Given the description of an element on the screen output the (x, y) to click on. 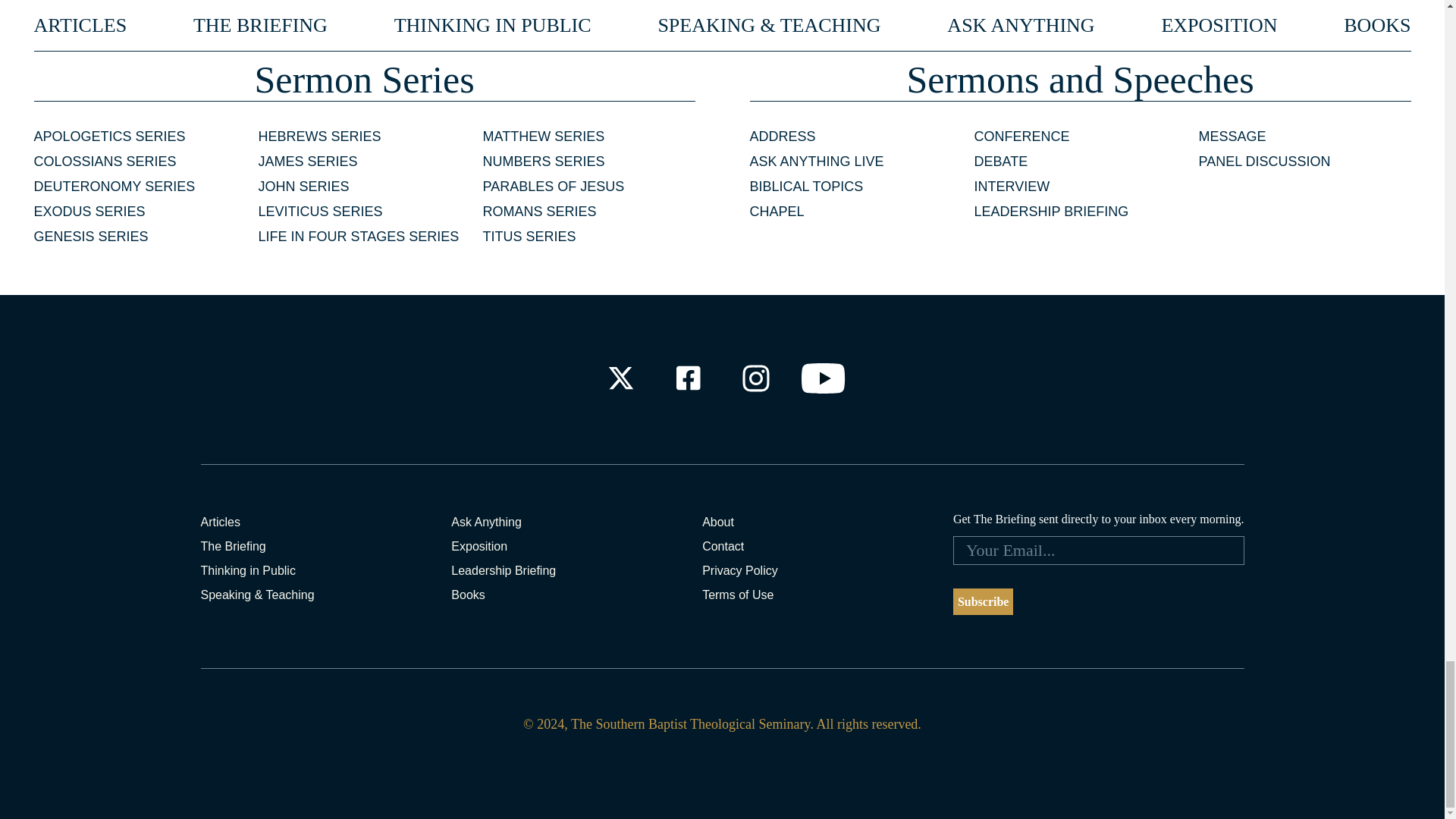
Subscribe (983, 601)
Check out our Instagram Profile (755, 377)
Check out our X Profile (620, 377)
Check out our Youtube Channel (822, 377)
Check out our Facebook Profile (687, 377)
